Given the description of an element on the screen output the (x, y) to click on. 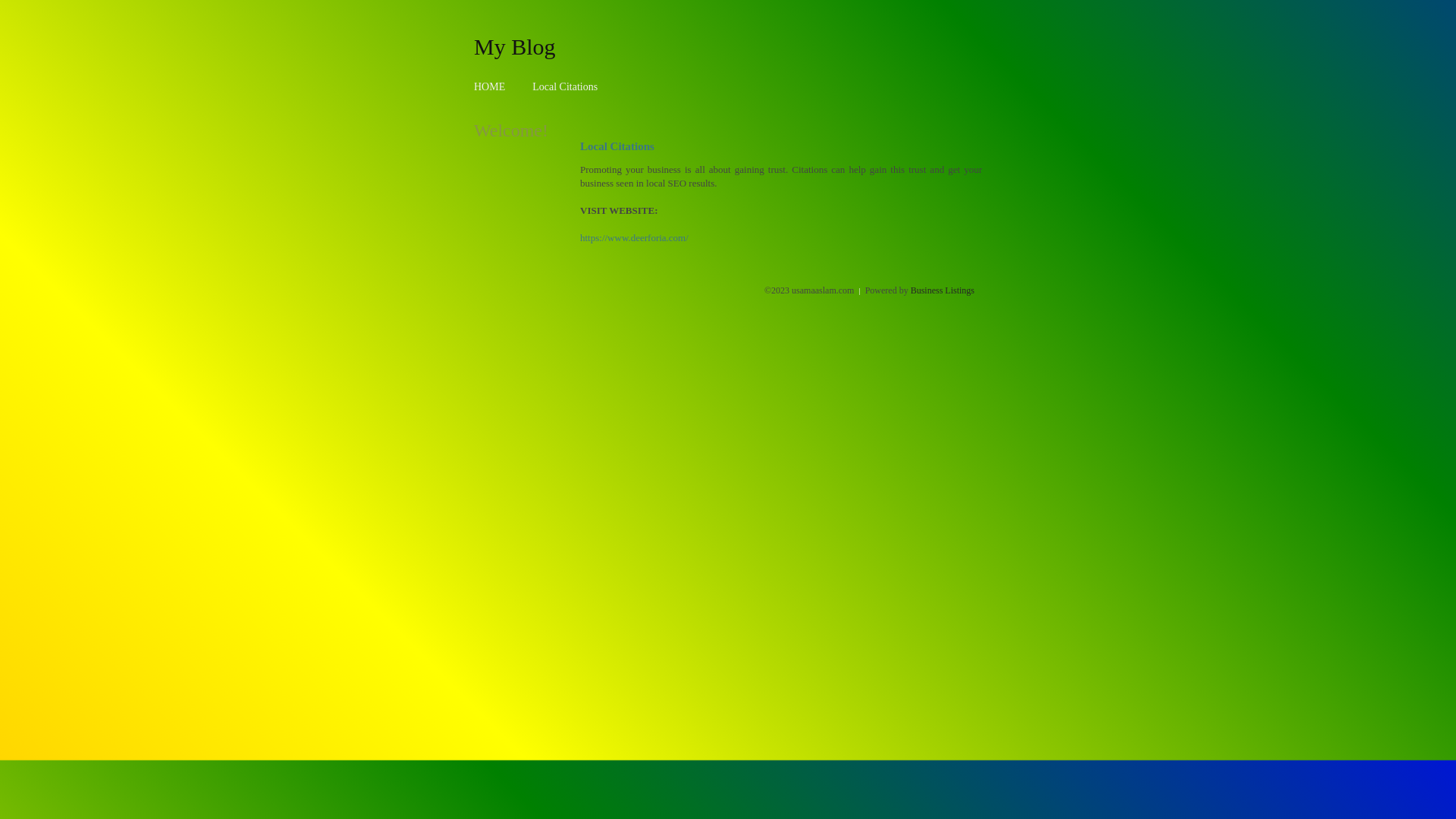
https://www.deerforia.com/ Element type: text (634, 237)
Local Citations Element type: text (564, 86)
HOME Element type: text (489, 86)
My Blog Element type: text (514, 46)
Business Listings Element type: text (942, 290)
